Given the description of an element on the screen output the (x, y) to click on. 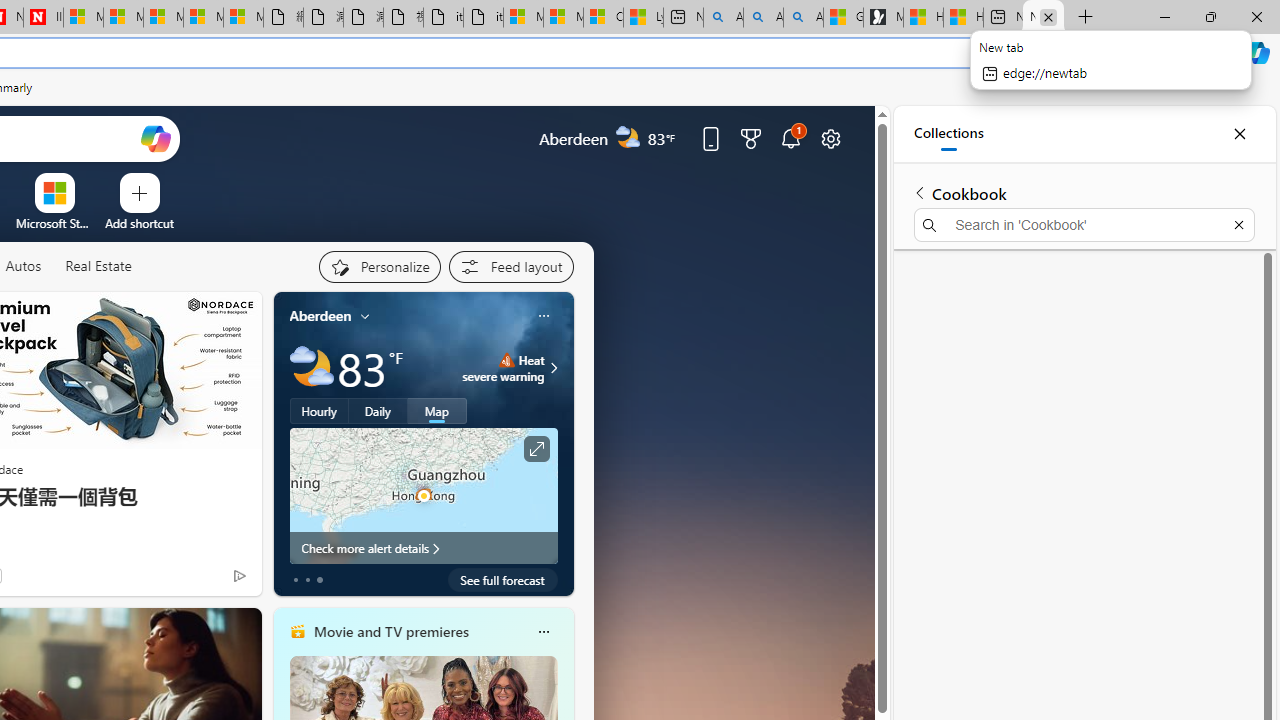
Class: weather-arrow-glyph (554, 367)
tab-2 (319, 579)
This story is trending (200, 579)
Feed settings (510, 266)
Real Estate (97, 267)
Ad Choice (238, 575)
Aberdeen (320, 315)
Microsoft rewards (750, 138)
itconcepthk.com/projector_solutions.mp4 (483, 17)
Microsoft Services Agreement (123, 17)
